Given the description of an element on the screen output the (x, y) to click on. 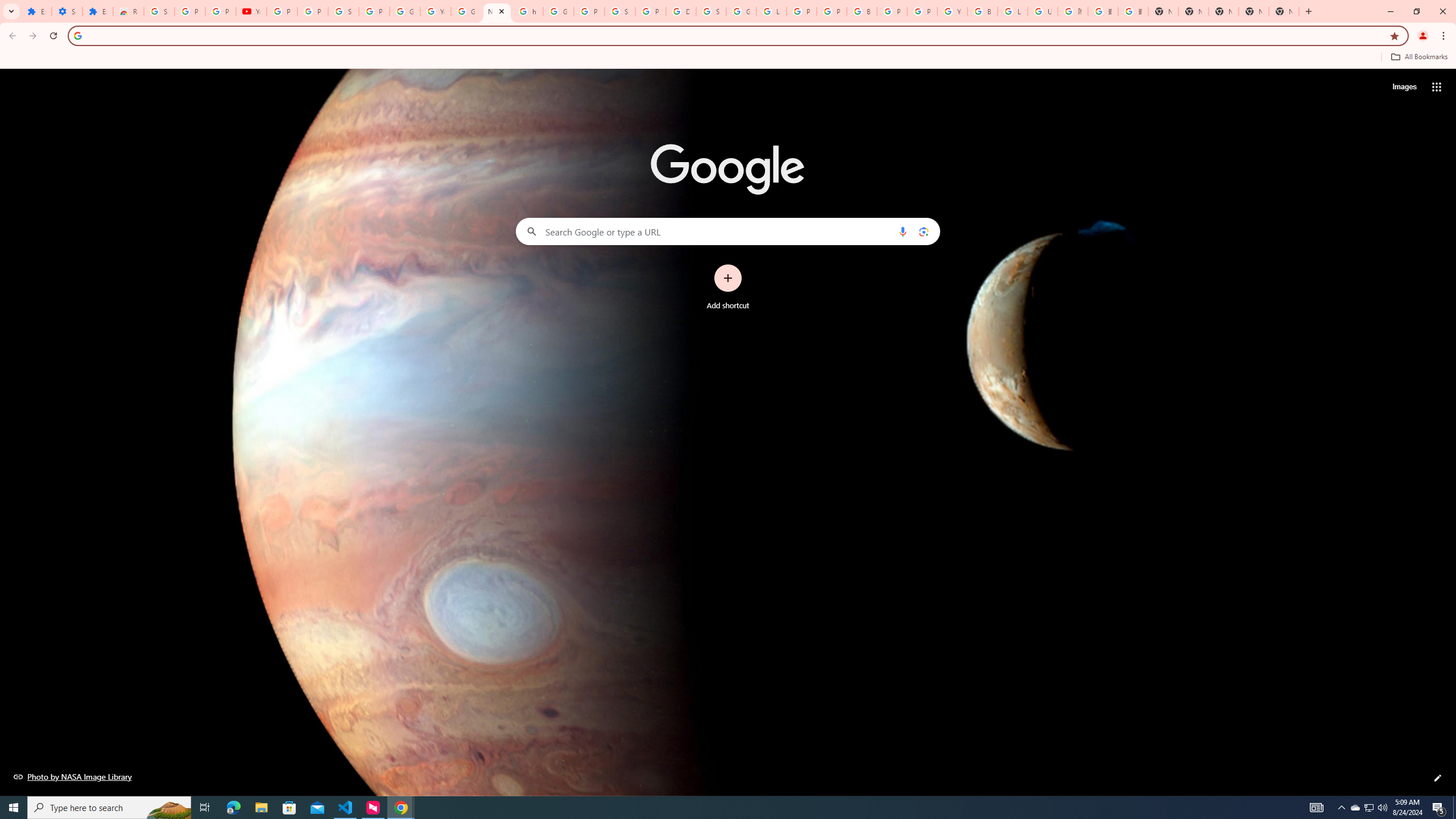
Extensions (97, 11)
